Given the description of an element on the screen output the (x, y) to click on. 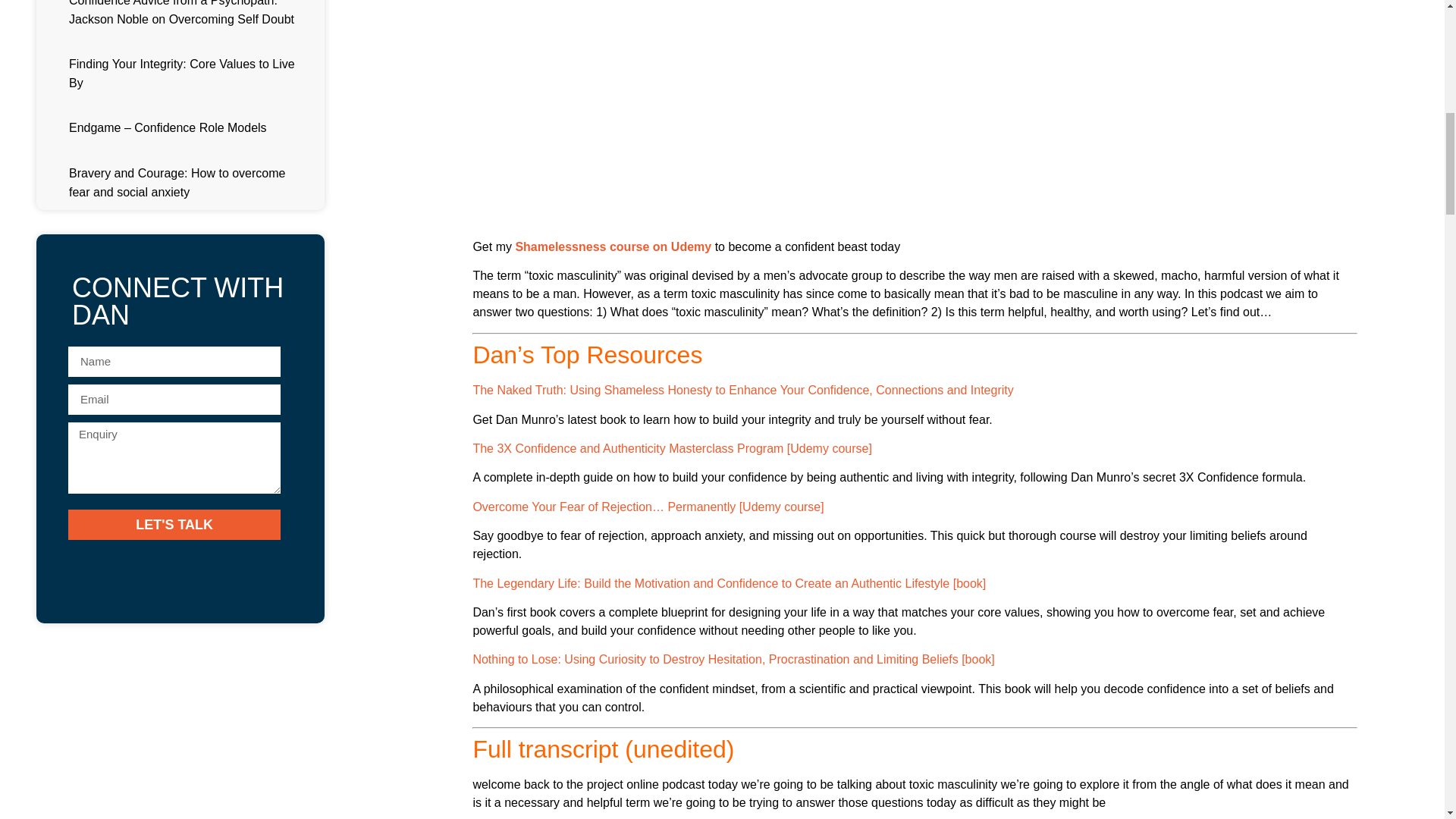
Bravery and Courage: How to overcome fear and social anxiety (176, 183)
Shamelessness course on Udemy (613, 246)
Finding Your Integrity: Core Values to Live By (181, 73)
LET'S TALK (174, 524)
